Given the description of an element on the screen output the (x, y) to click on. 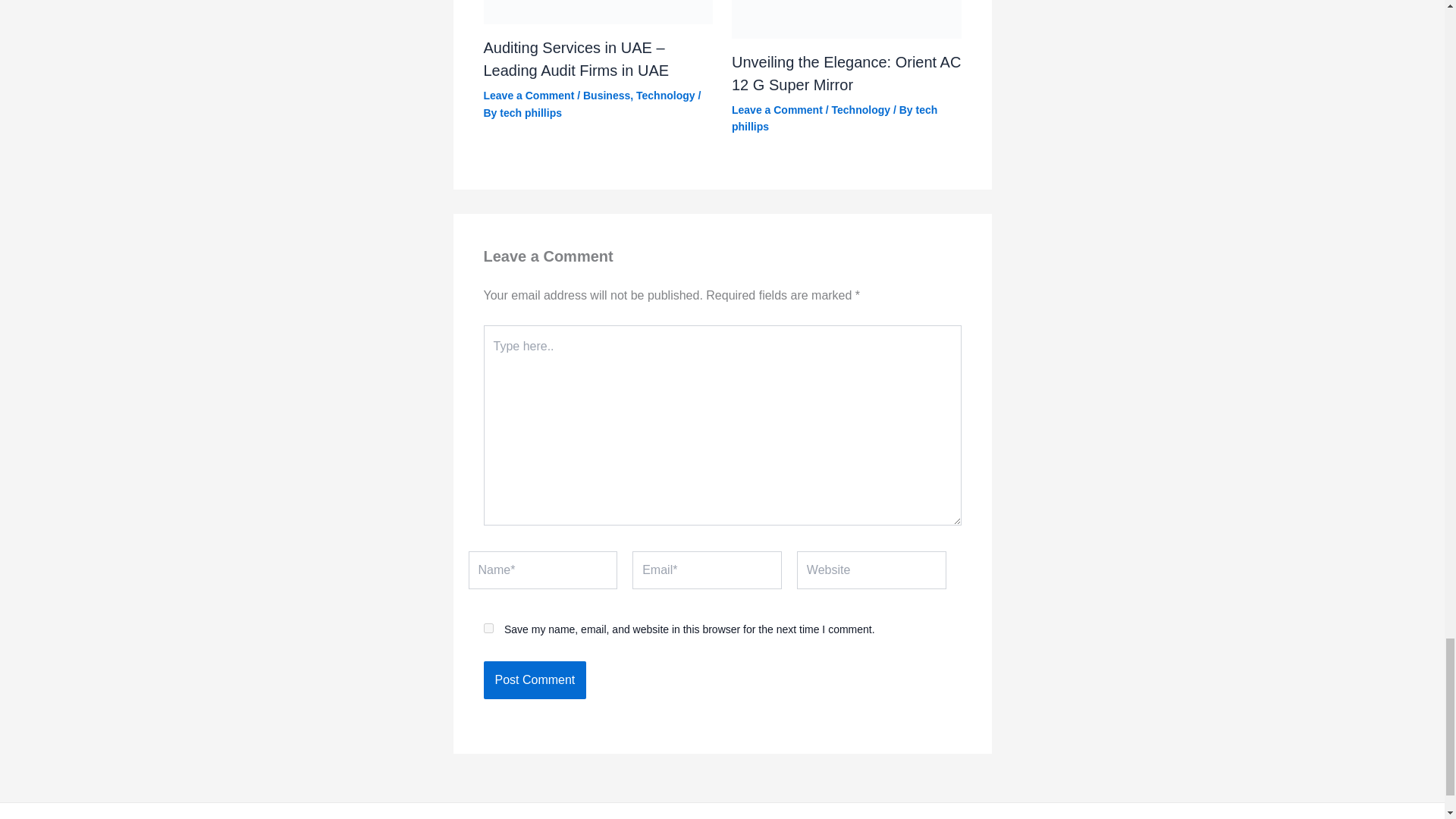
View all posts by tech phillips (530, 112)
Post Comment (534, 679)
yes (488, 628)
